Given the description of an element on the screen output the (x, y) to click on. 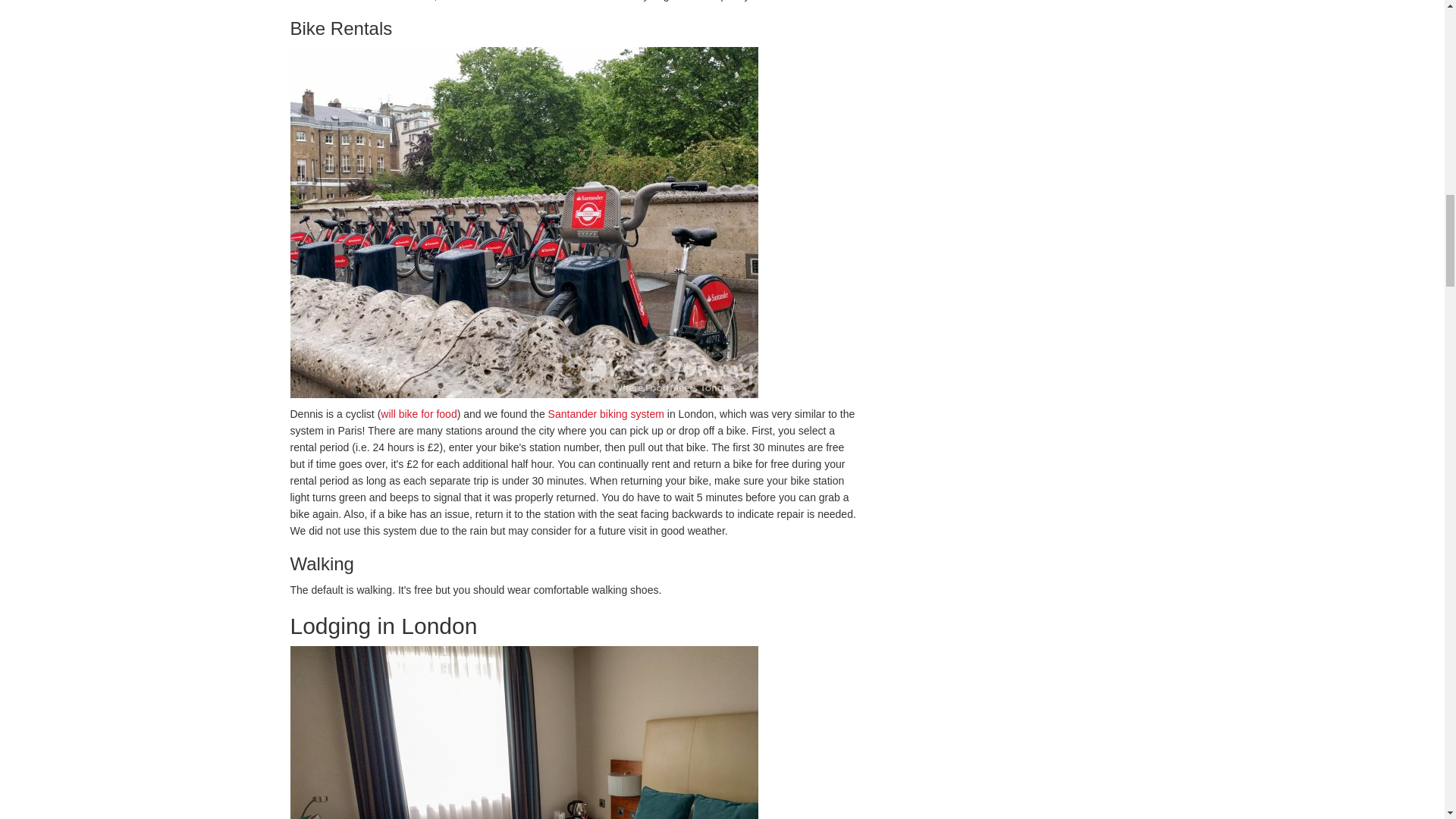
will bike for food (418, 413)
Santander biking system (605, 413)
Thistle Kensington Gardens in London UK (523, 732)
Thistle Kensington Gardens in London UK (574, 732)
